Given the description of an element on the screen output the (x, y) to click on. 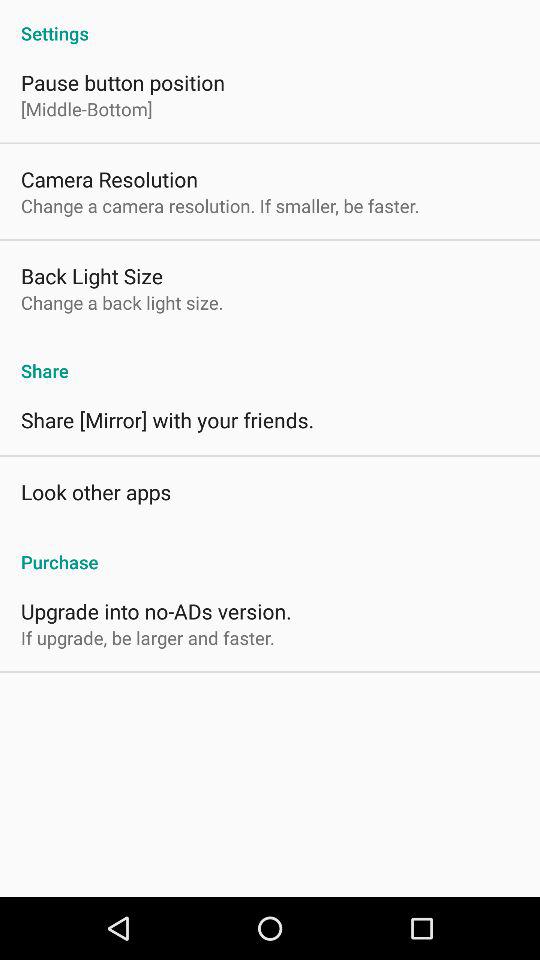
tap icon above pause button position item (270, 22)
